Given the description of an element on the screen output the (x, y) to click on. 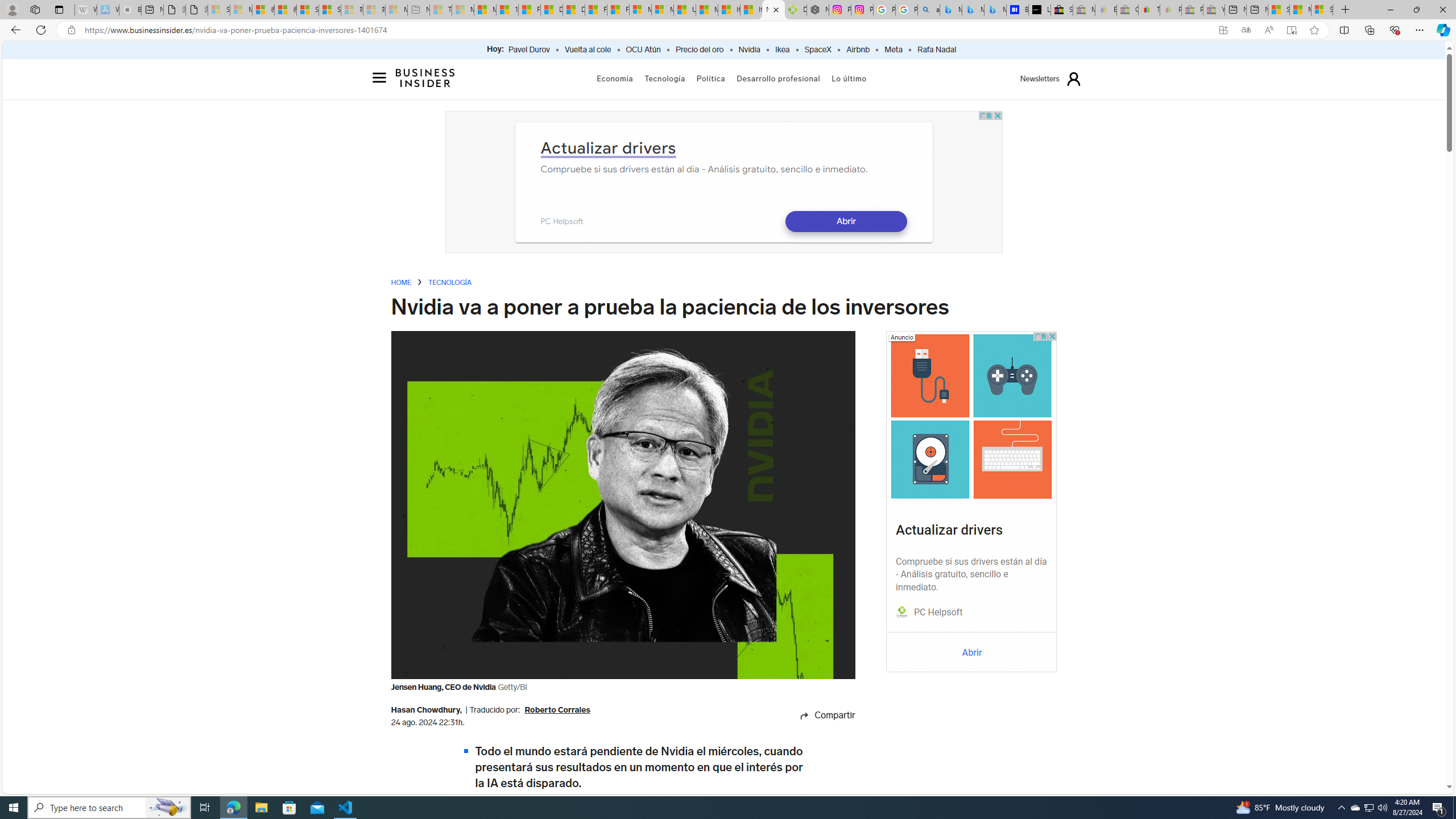
Class: image-link (970, 416)
Threats and offensive language policy | eBay (1149, 9)
Twitter (815, 799)
Share icon (804, 715)
Vuelta al cole (587, 49)
Microsoft Bing Travel - Flights from Hong Kong to Bangkok (950, 9)
Pavel Durov (529, 49)
Flipboard (815, 755)
Top Stories - MSN - Sleeping (441, 9)
Newsletters (1039, 78)
